Given the description of an element on the screen output the (x, y) to click on. 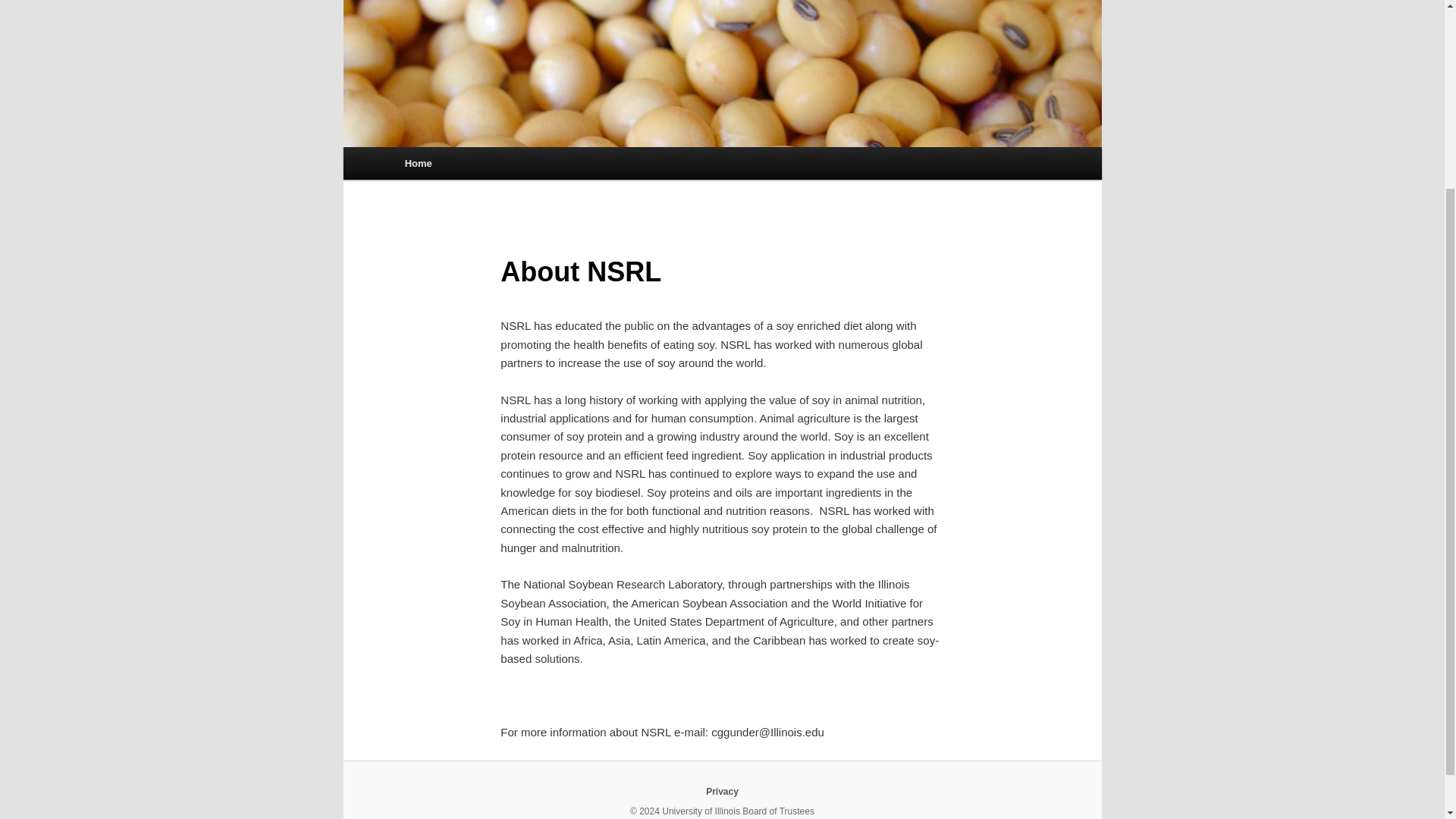
Privacy (722, 791)
Home (418, 163)
